Given the description of an element on the screen output the (x, y) to click on. 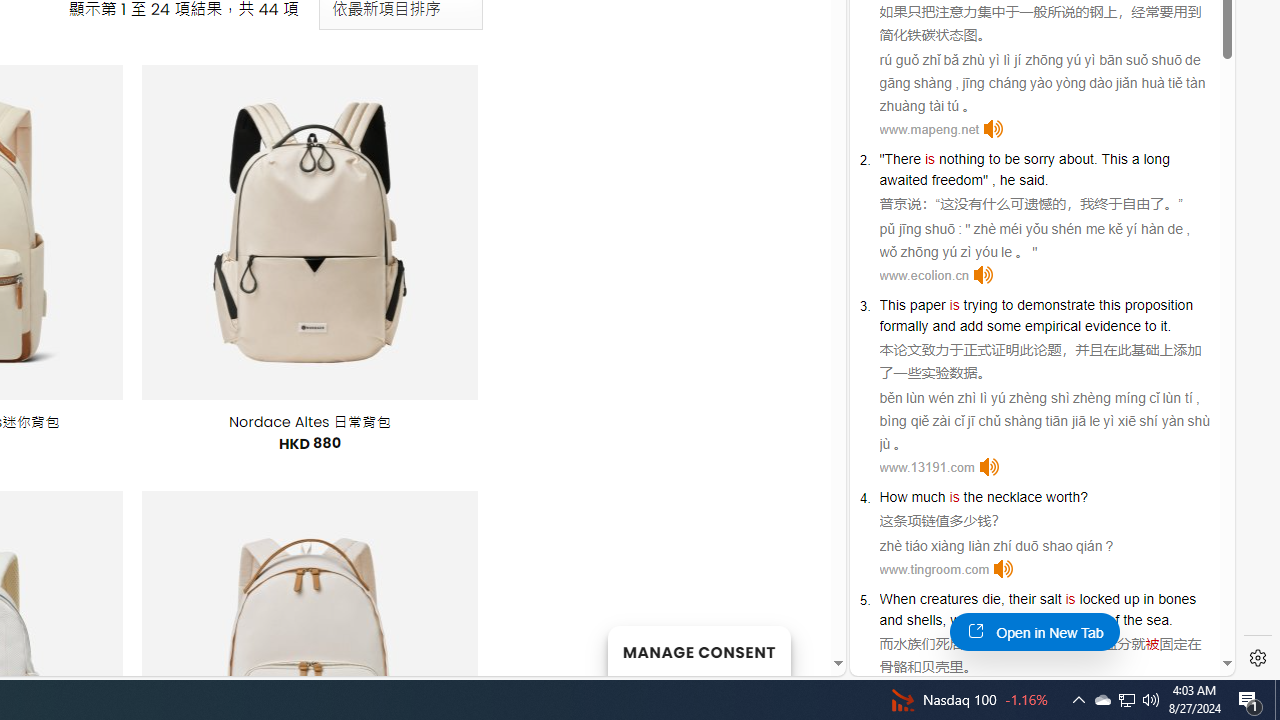
This (892, 304)
is (1070, 598)
shells (924, 619)
said (1031, 179)
add (971, 326)
? (1084, 496)
